Given the description of an element on the screen output the (x, y) to click on. 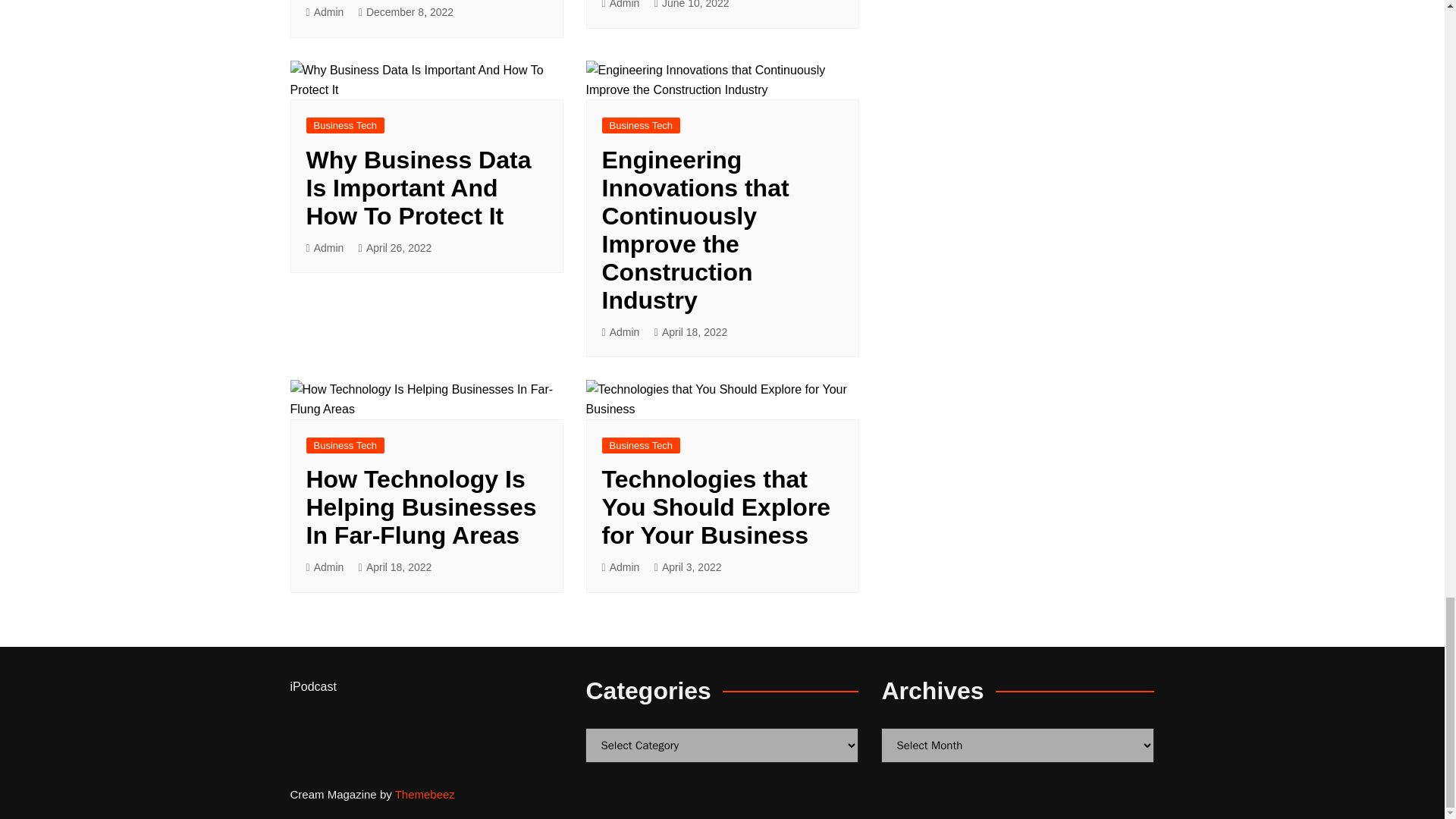
Business Tech (345, 125)
Admin (324, 248)
June 10, 2022 (691, 6)
Admin (621, 6)
December 8, 2022 (405, 12)
Admin (324, 12)
Why Business Data Is Important And How To Protect It (418, 188)
